Given the description of an element on the screen output the (x, y) to click on. 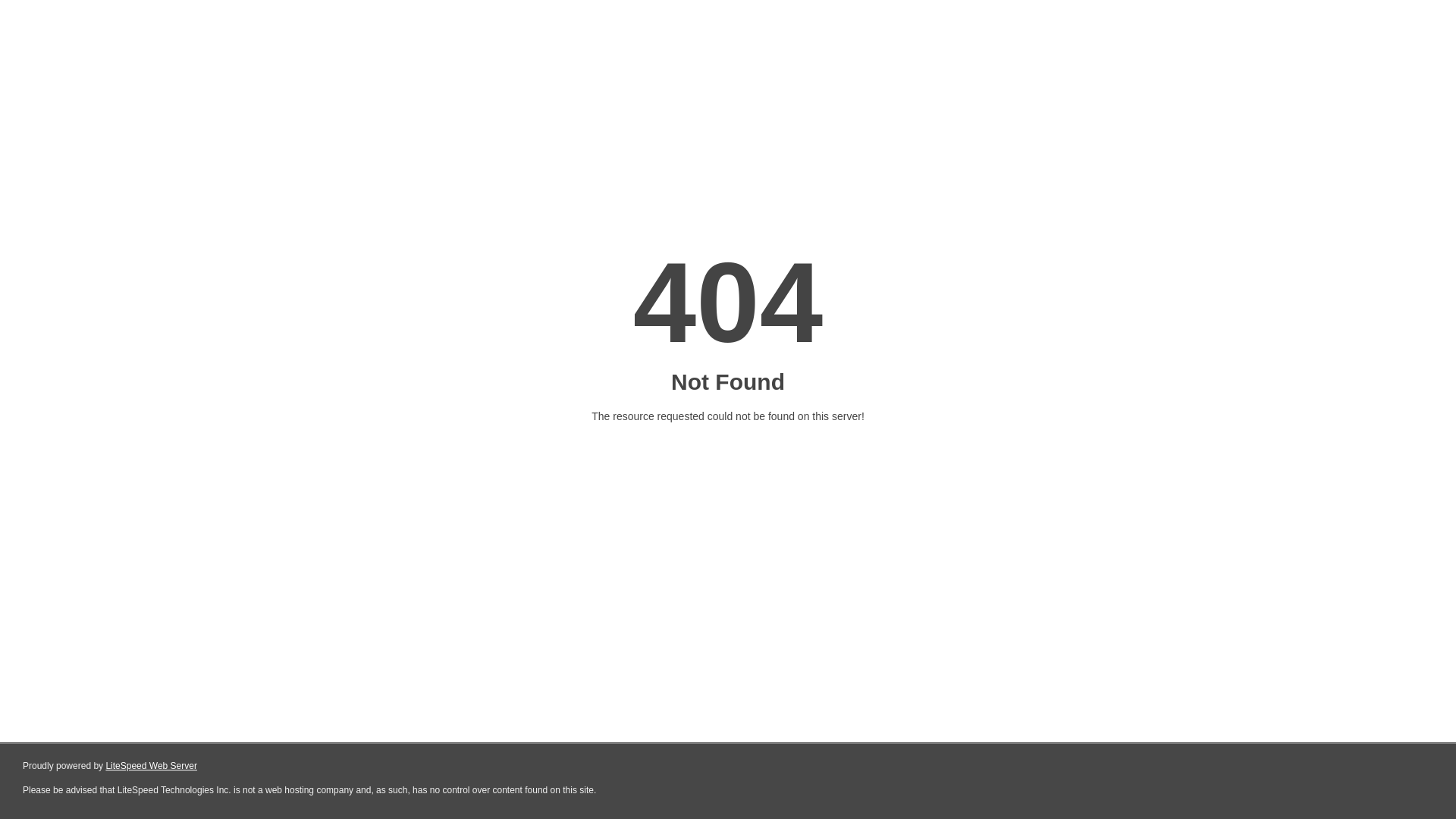
LiteSpeed Web Server Element type: text (151, 765)
